Given the description of an element on the screen output the (x, y) to click on. 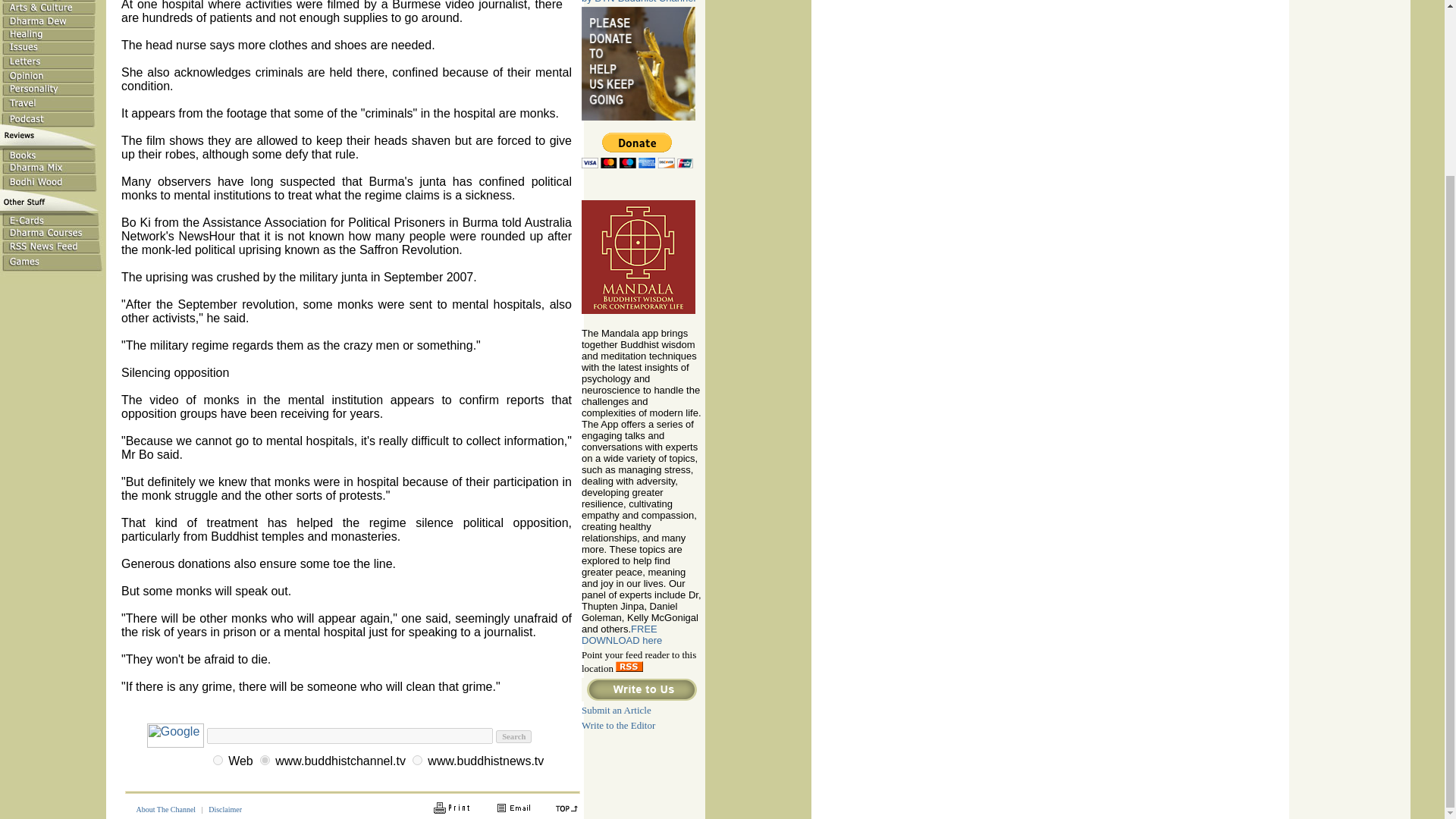
Write to the Editor (617, 724)
Disclaimer (224, 809)
Search (513, 736)
Search (513, 736)
www.buddhistnews.tv (417, 759)
FREE DOWNLOAD here (621, 634)
About The Channel (165, 809)
Submit an Article (615, 708)
www.buddhistchannel.tv (264, 759)
